Given the description of an element on the screen output the (x, y) to click on. 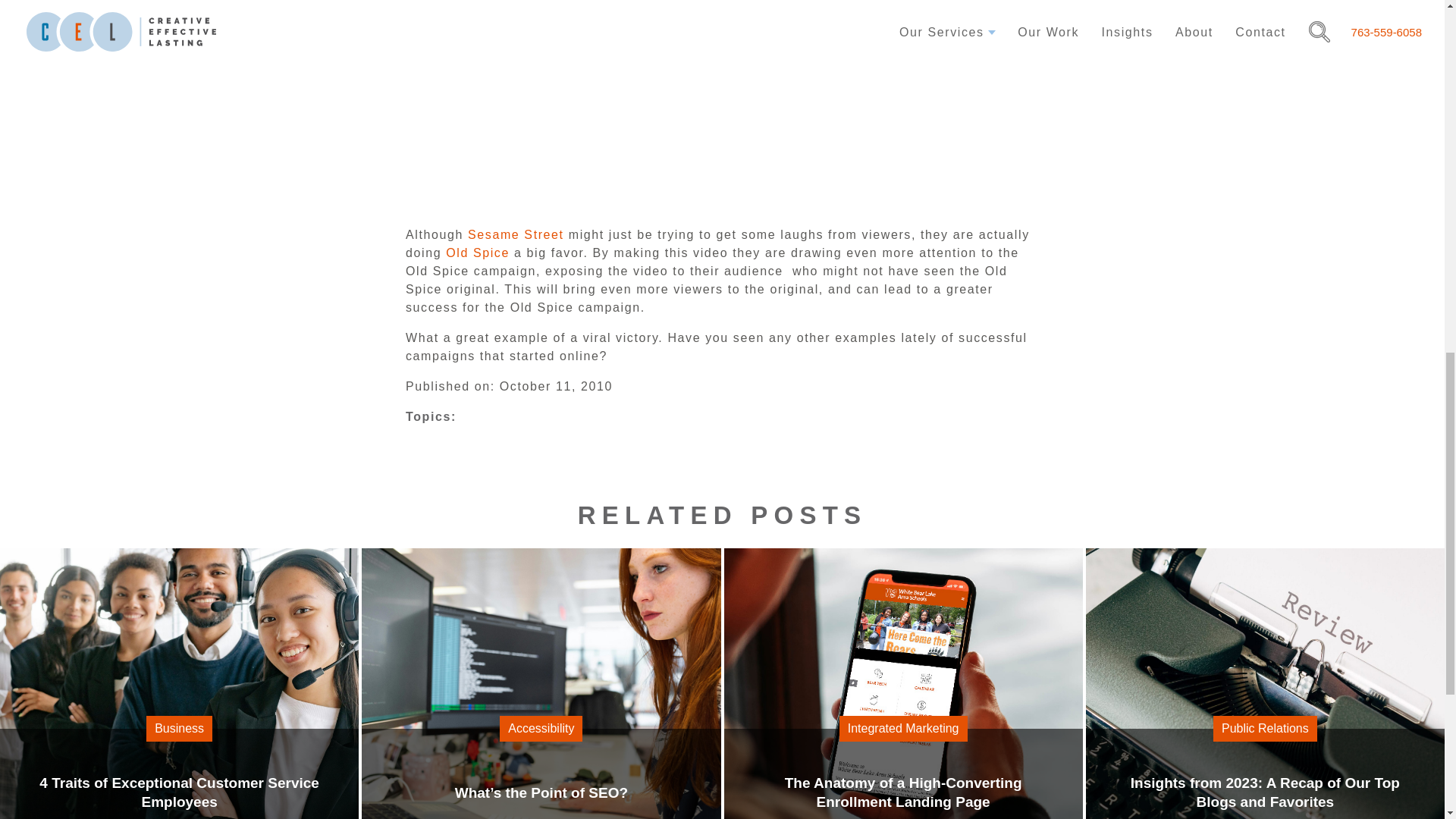
Sesame Street (179, 773)
Old Spice (515, 234)
